Given the description of an element on the screen output the (x, y) to click on. 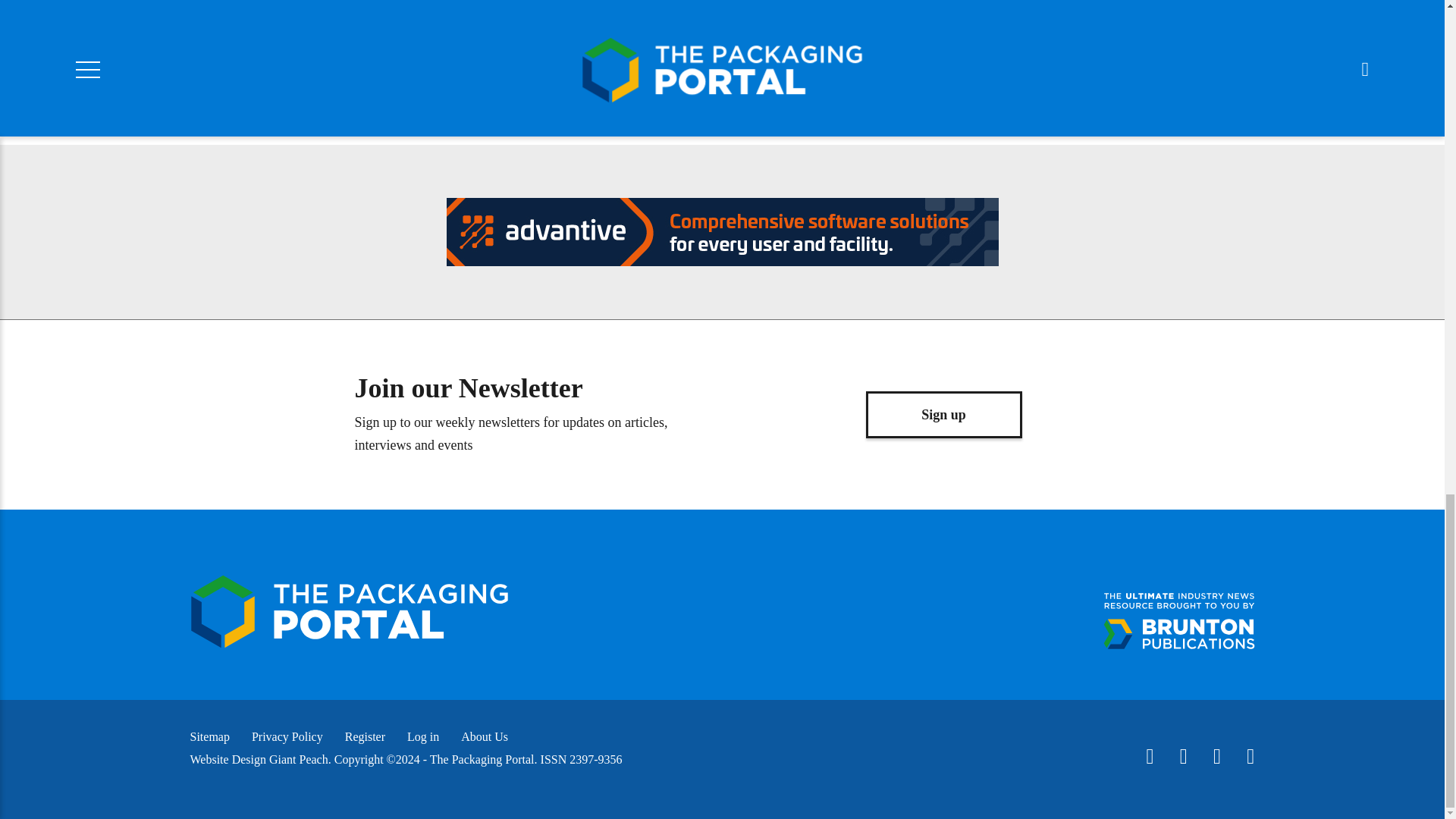
Sign up (944, 414)
Sitemap (208, 736)
About Us (484, 736)
Share on LinkedIn (645, 15)
Share on Facebook (403, 15)
Log in (423, 736)
Privacy Policy (287, 736)
Share on Twitter (483, 15)
Share on Whatsapp (564, 15)
Send link to friend (725, 15)
Register (365, 736)
